Given the description of an element on the screen output the (x, y) to click on. 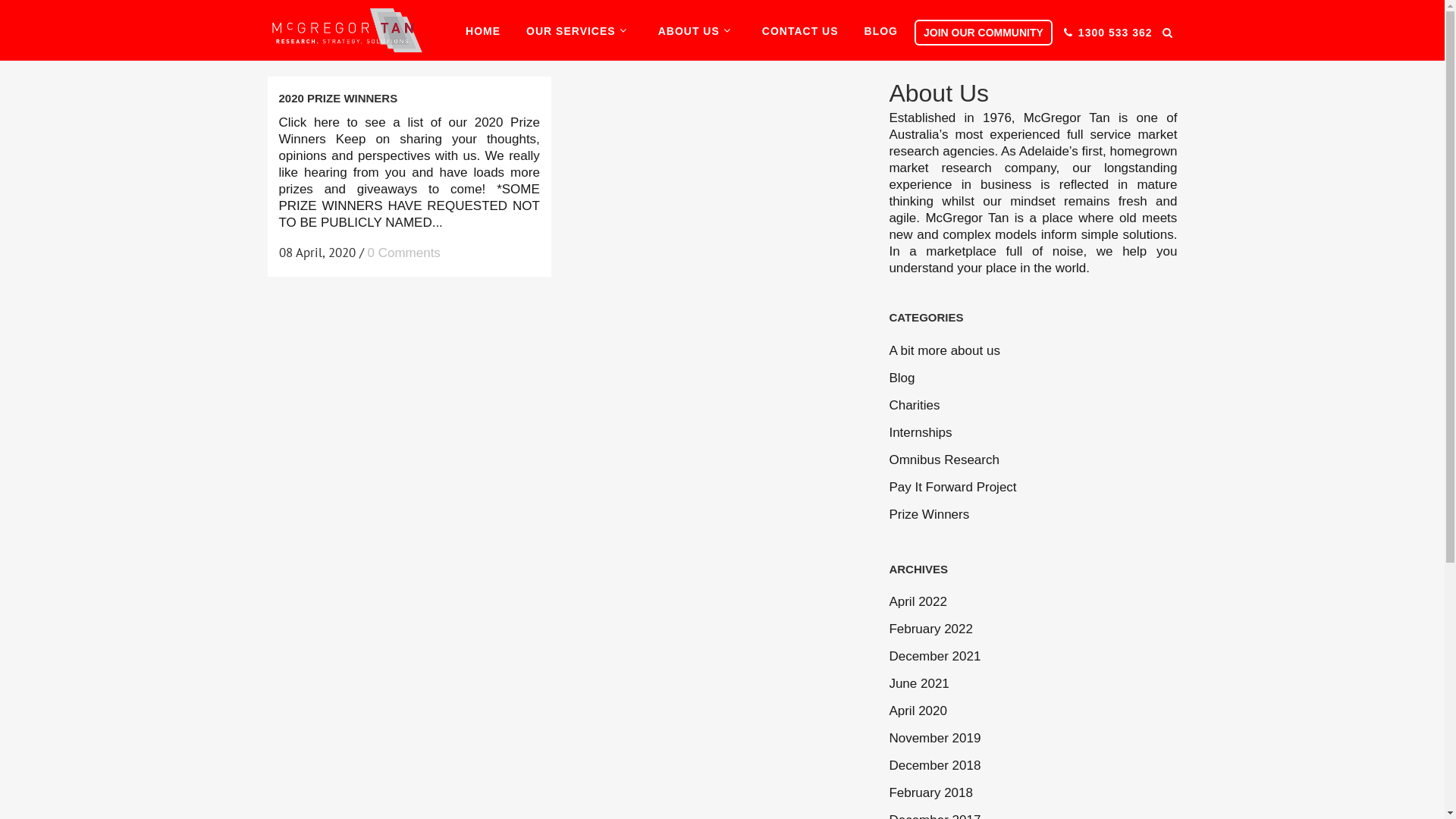
Charities Element type: text (913, 405)
Home Element type: text (1094, 34)
February 2022 Element type: text (930, 628)
HOME Element type: text (482, 31)
A bit more about us Element type: text (943, 350)
ABOUT US Element type: text (697, 31)
Prize Winners Element type: text (928, 514)
BLOG Element type: text (880, 31)
JOIN OUR COMMUNITY Element type: text (983, 32)
Pay It Forward Project Element type: text (952, 487)
2020 Element type: text (1131, 34)
November 2019 Element type: text (934, 738)
Blog Element type: text (901, 377)
OUR SERVICES Element type: text (579, 31)
December 2021 Element type: text (934, 656)
April 2020 Element type: text (917, 710)
0 Comments Element type: text (403, 252)
February 2018 Element type: text (930, 792)
April 2022 Element type: text (917, 601)
2020 PRIZE WINNERS Element type: text (338, 97)
Omnibus Research Element type: text (943, 459)
June 2021 Element type: text (918, 683)
Internships Element type: text (919, 432)
CONTACT US Element type: text (800, 31)
1300 533 362 Element type: text (1115, 32)
December 2018 Element type: text (934, 765)
